Given the description of an element on the screen output the (x, y) to click on. 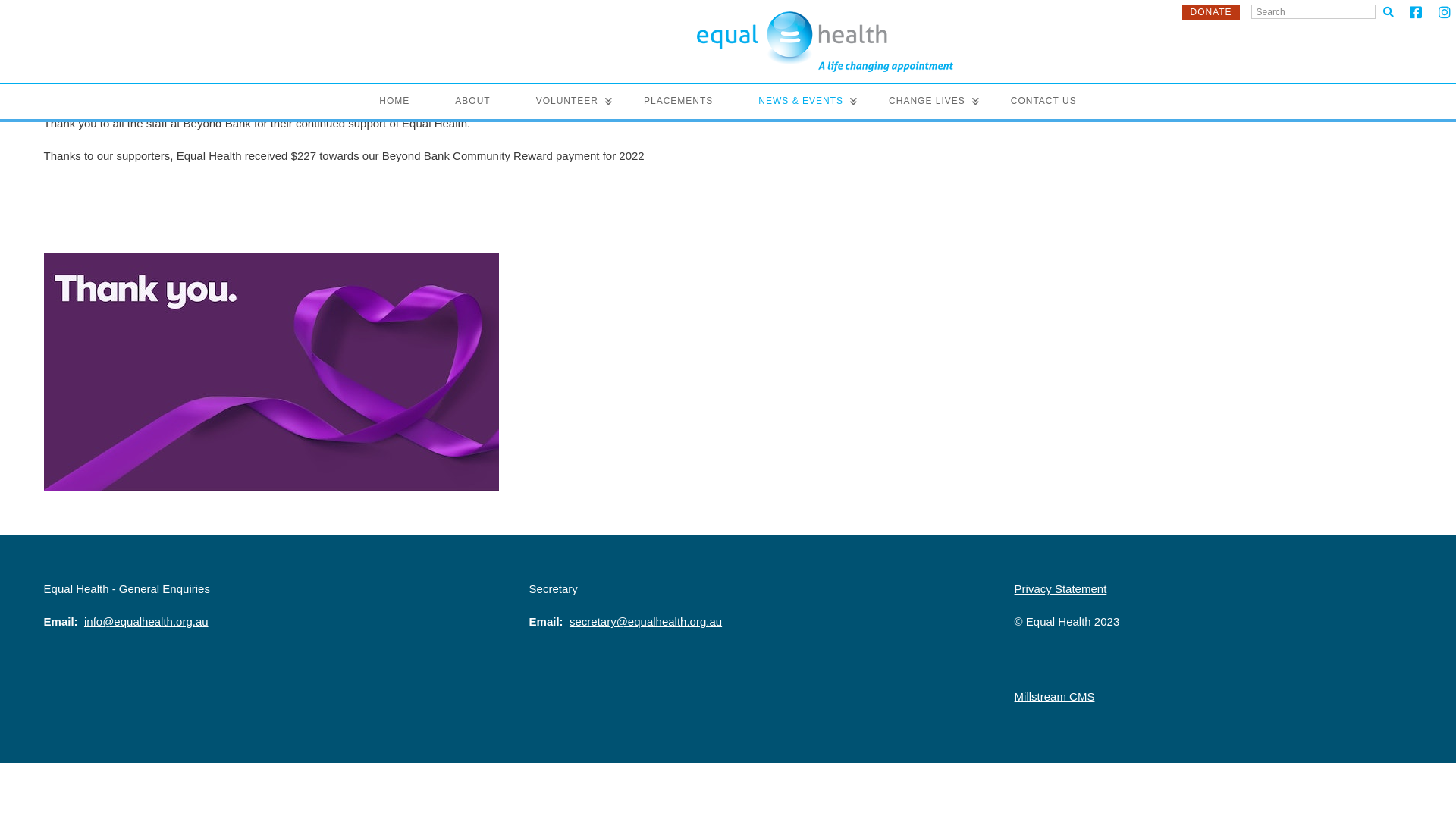
secretary@equalhealth.org.au Element type: text (645, 621)
CONTACT US Element type: text (1043, 101)
SEARCH Element type: text (1388, 11)
VOLUNTEER Element type: text (567, 101)
Skip to content Element type: text (21, 16)
DONATE Element type: text (1210, 11)
Enter search term Element type: hover (1313, 11)
NEWS & EVENTS Element type: text (800, 101)
HOME Element type: text (394, 101)
CHANGE LIVES Element type: text (927, 101)
info@equalhealth.org.au Element type: text (146, 621)
PLACEMENTS Element type: text (678, 101)
Privacy Statement Element type: text (1060, 588)
ABOUT Element type: text (472, 101)
Millstream CMS Element type: text (1054, 696)
